Given the description of an element on the screen output the (x, y) to click on. 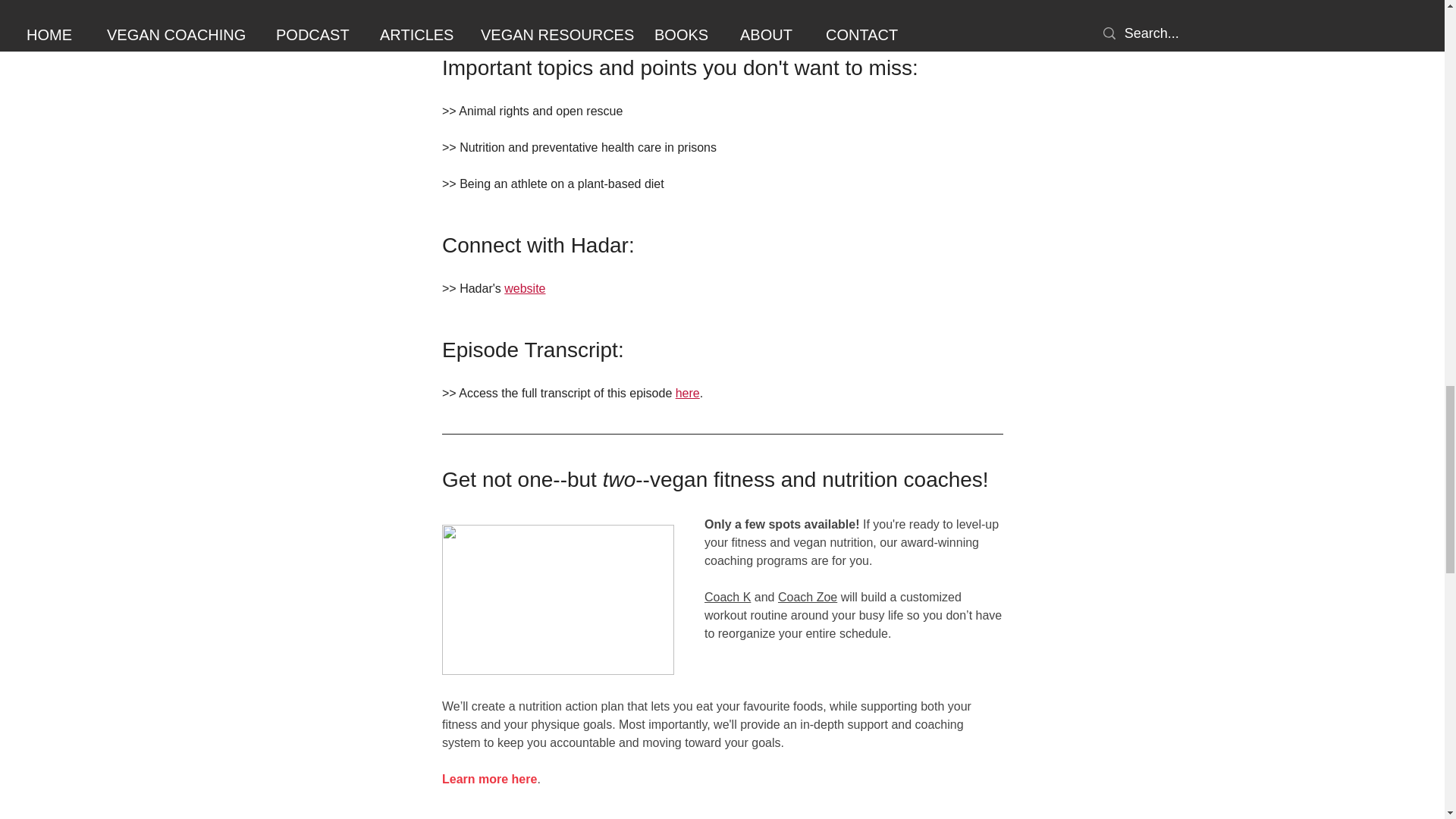
here (686, 392)
website (523, 287)
Coach K (726, 596)
Coach Zoe (806, 596)
Learn more here (488, 779)
award-winning coaching programs (842, 551)
